Given the description of an element on the screen output the (x, y) to click on. 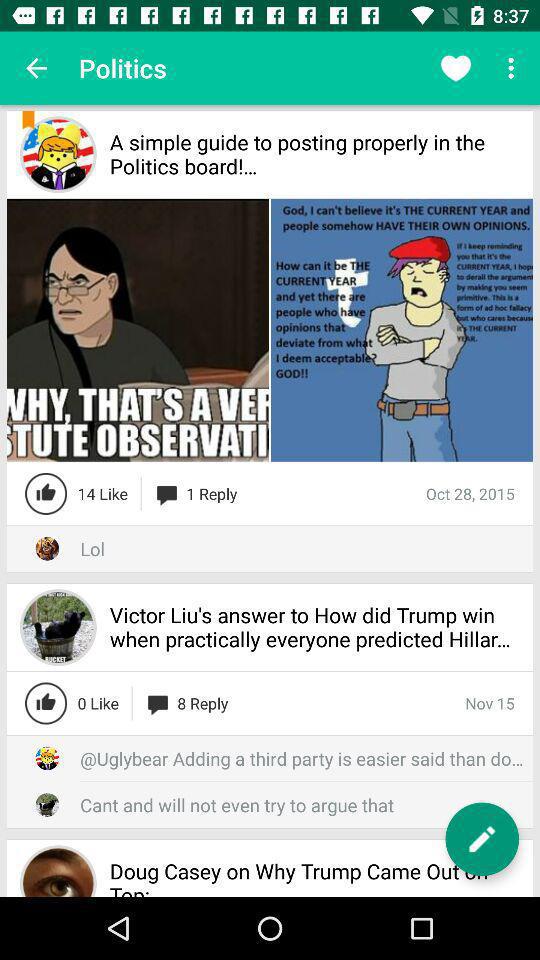
like this (46, 703)
